Given the description of an element on the screen output the (x, y) to click on. 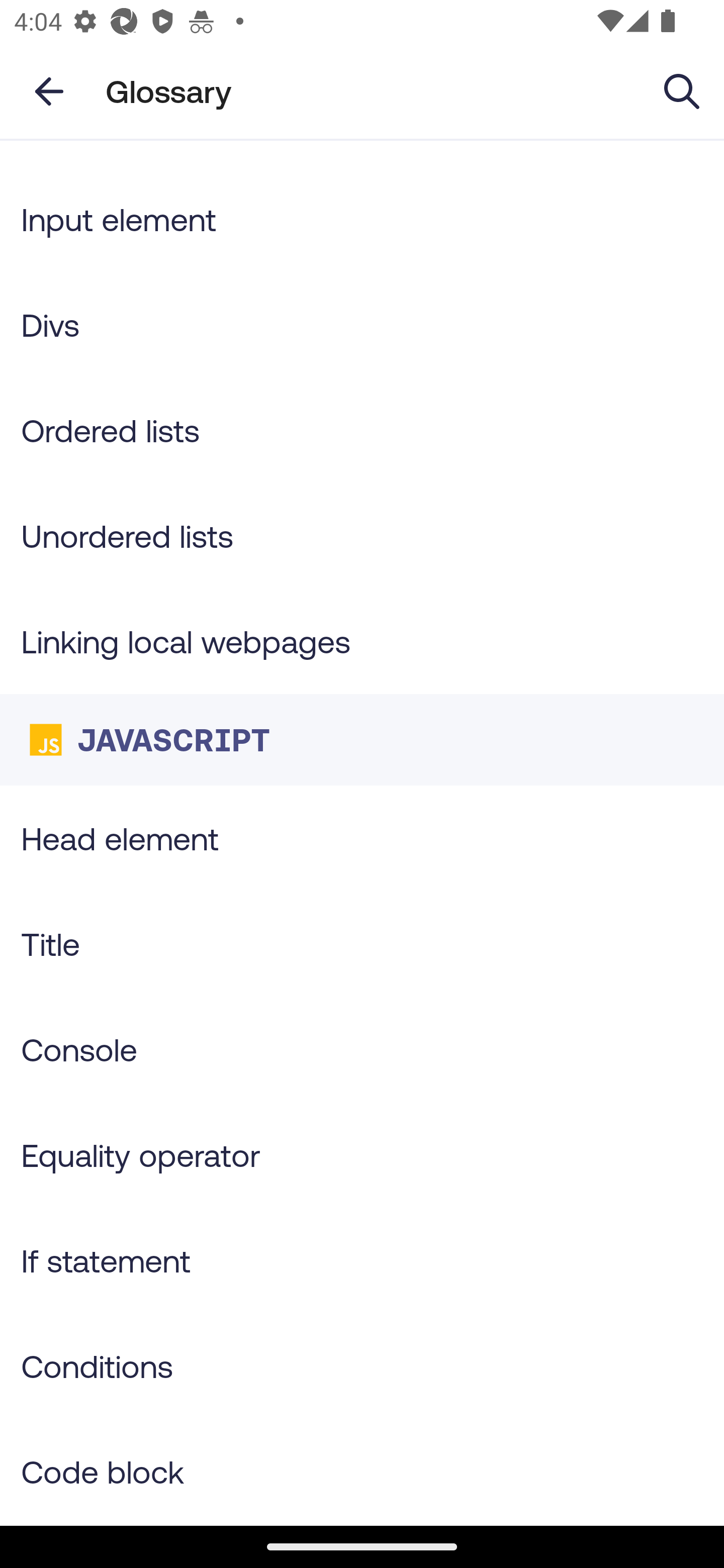
Navigate up (49, 91)
Search Glossary (681, 90)
Input element (362, 218)
Divs (362, 324)
Ordered lists (362, 429)
Unordered lists (362, 535)
Linking local webpages (362, 641)
JAVASCRIPT (362, 739)
Head element (362, 837)
Title (362, 943)
Console (362, 1049)
Equality operator (362, 1154)
If statement (362, 1260)
Conditions (362, 1366)
Code block  (362, 1471)
